Given the description of an element on the screen output the (x, y) to click on. 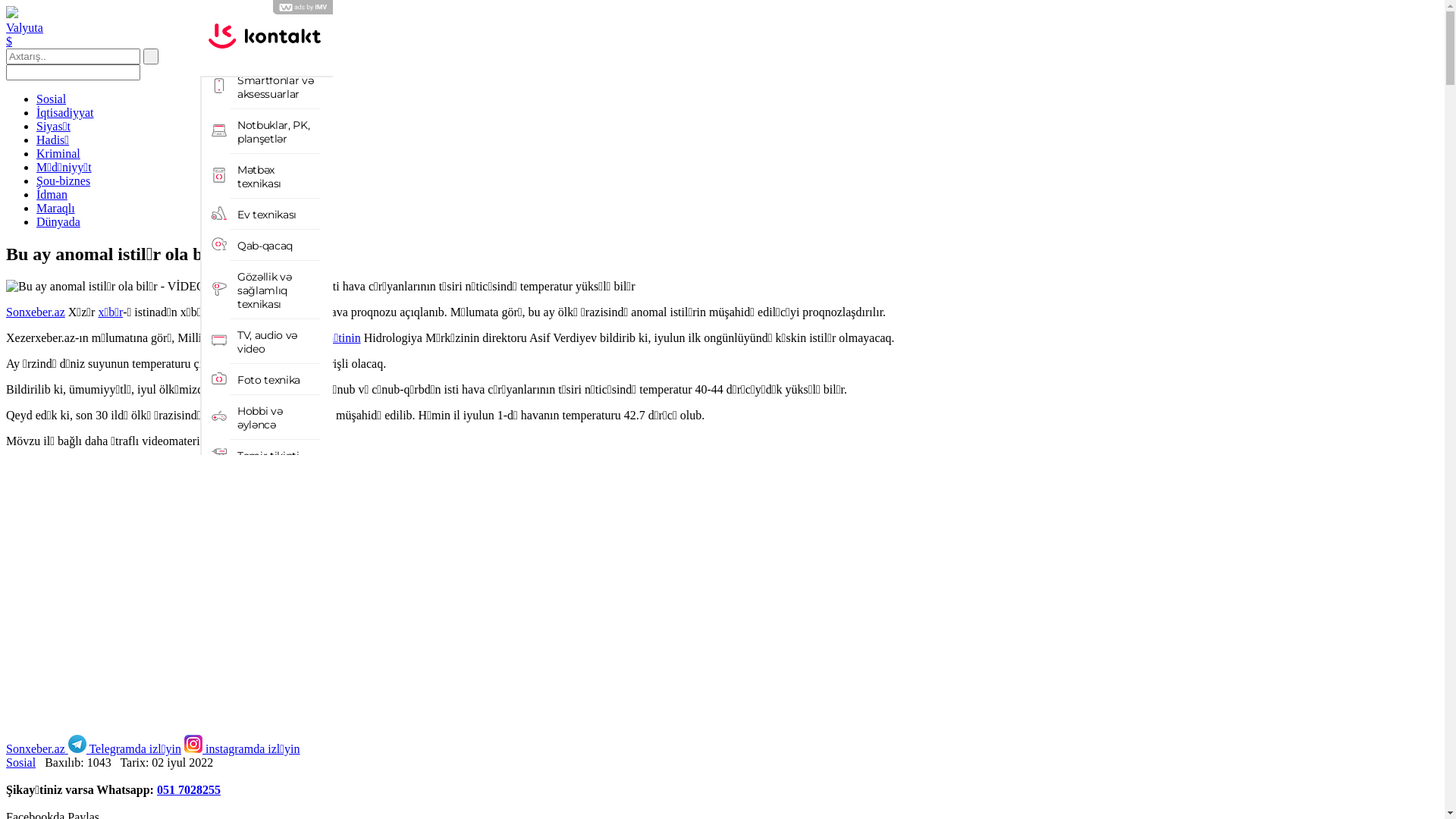
Valyuta Element type: text (24, 27)
$ Element type: text (9, 40)
Kriminal Element type: text (58, 153)
Sosial Element type: text (20, 762)
video player Element type: hover (233, 589)
Sonxeber.az Element type: text (35, 748)
Sosial Element type: text (50, 98)
Sonxeber.az Element type: text (35, 311)
  Element type: text (150, 56)
051 7028255 Element type: text (188, 789)
